Given the description of an element on the screen output the (x, y) to click on. 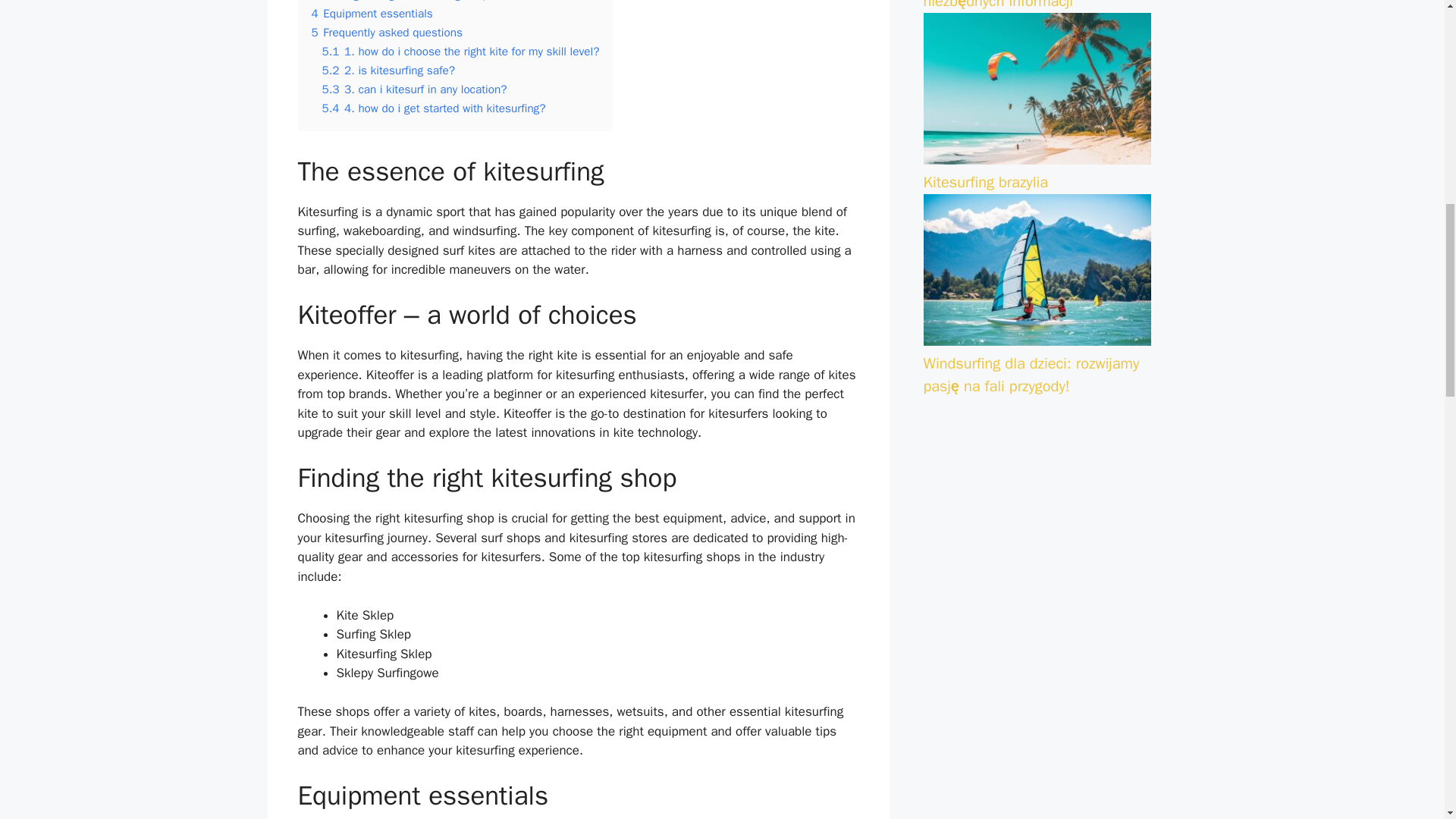
5.2 2. is kitesurfing safe? (387, 70)
Kitesurfing brazylia 5 (1037, 88)
5 Frequently asked questions (386, 32)
4 Equipment essentials (371, 13)
3 Finding the right kitesurfing shop (399, 1)
5.4 4. how do i get started with kitesurfing? (432, 108)
5.1 1. how do i choose the right kite for my skill level? (459, 51)
Kitesurfing brazylia (985, 181)
5.3 3. can i kitesurf in any location? (413, 89)
